Given the description of an element on the screen output the (x, y) to click on. 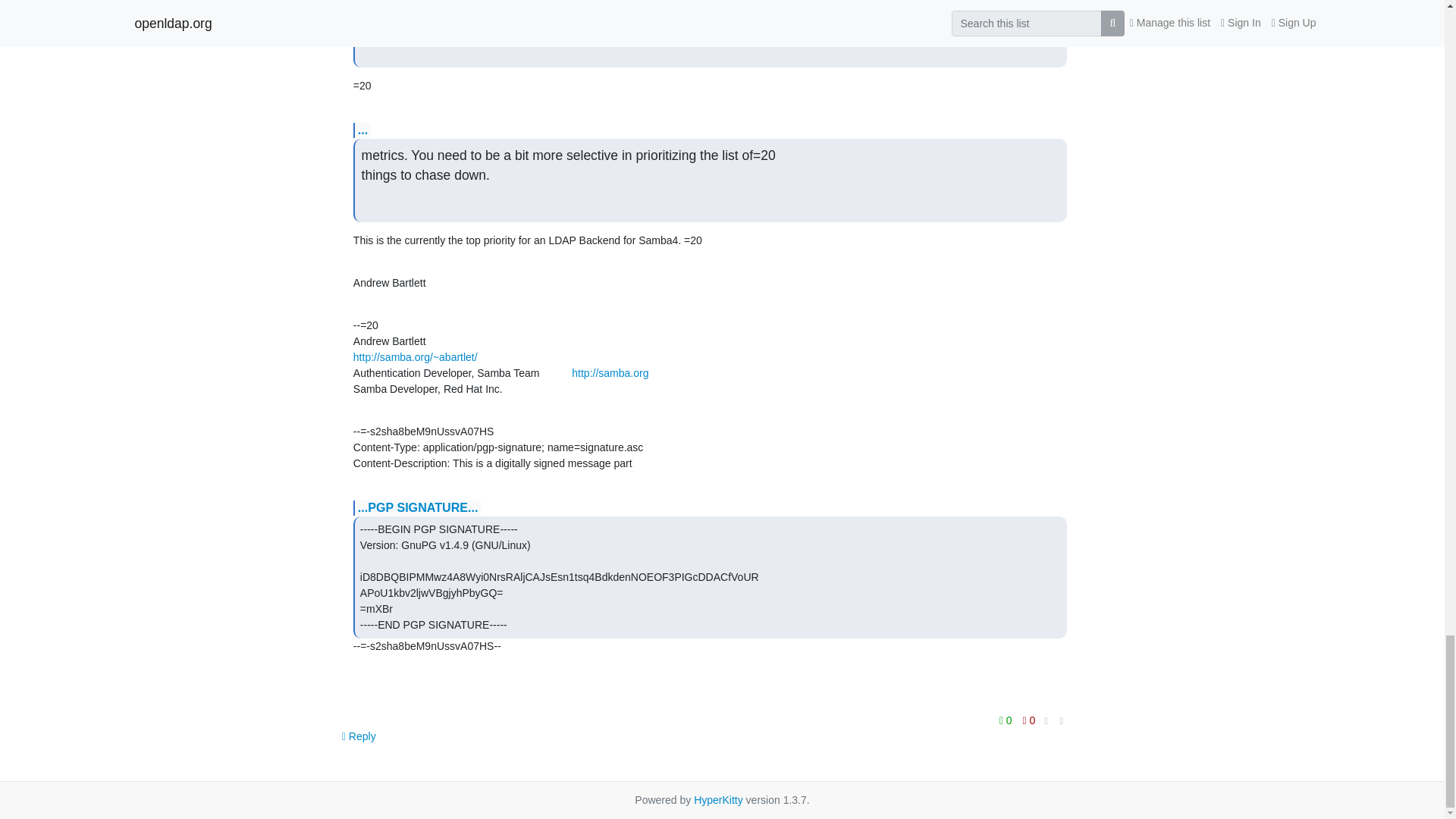
Sign in to reply online (359, 736)
You must be logged-in to vote. (1029, 720)
You must be logged-in to vote. (1007, 720)
